Given the description of an element on the screen output the (x, y) to click on. 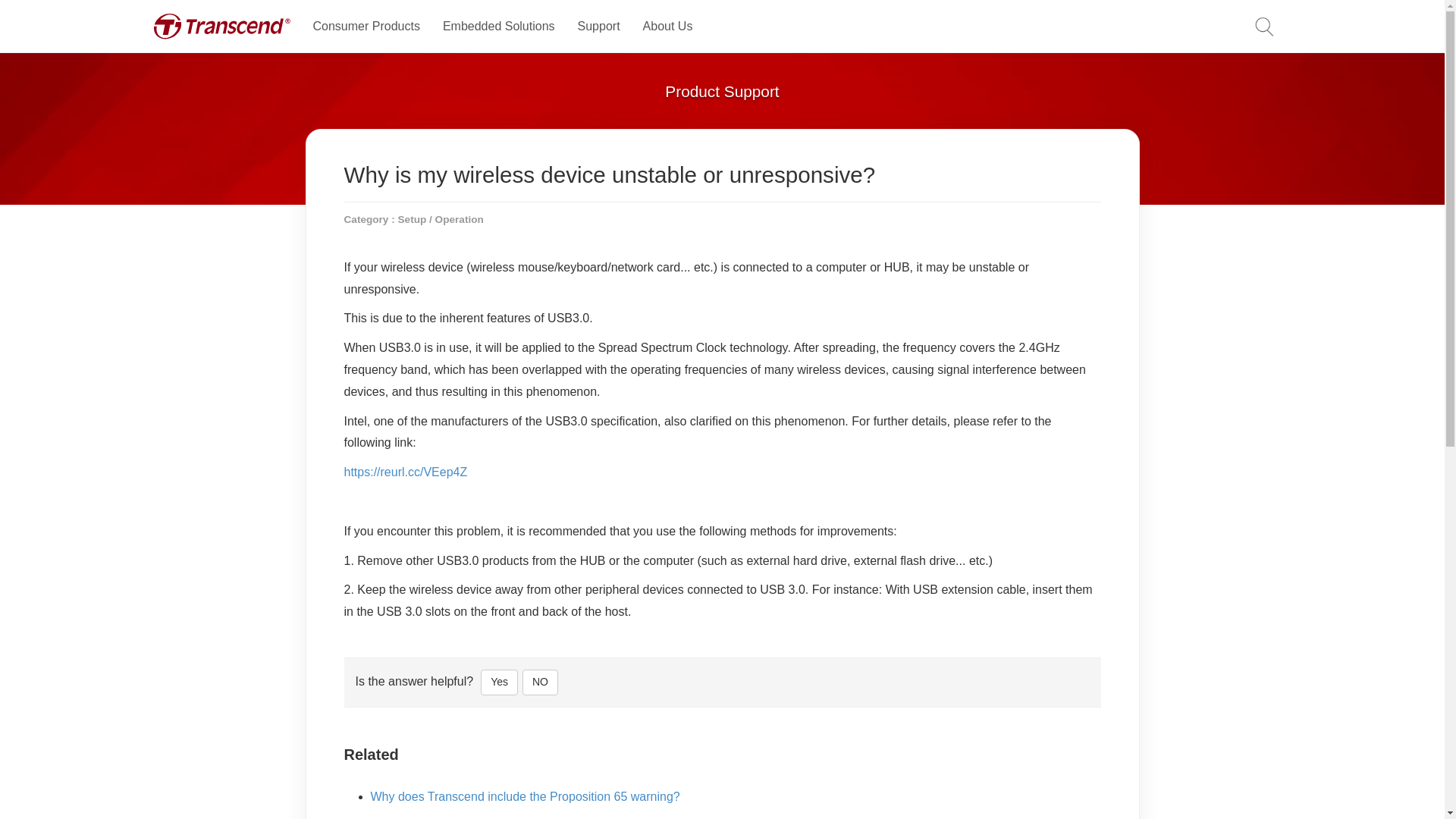
NO (539, 682)
Consumer Products (365, 26)
Yes (499, 682)
